Given the description of an element on the screen output the (x, y) to click on. 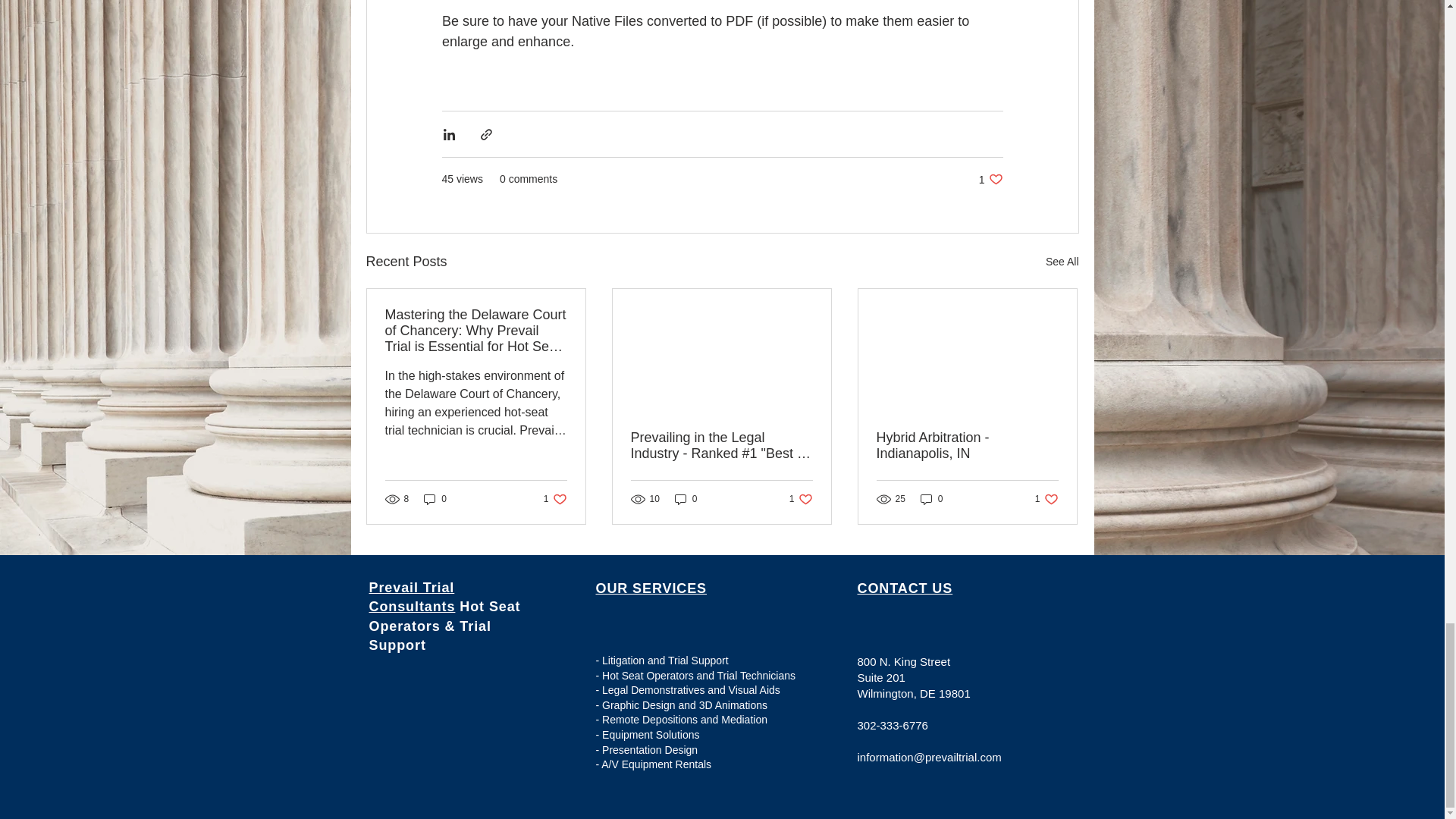
0 (800, 499)
See All (685, 499)
Hybrid Arbitration - Indianapolis, IN (1061, 261)
0 (967, 445)
0 (990, 178)
